Given the description of an element on the screen output the (x, y) to click on. 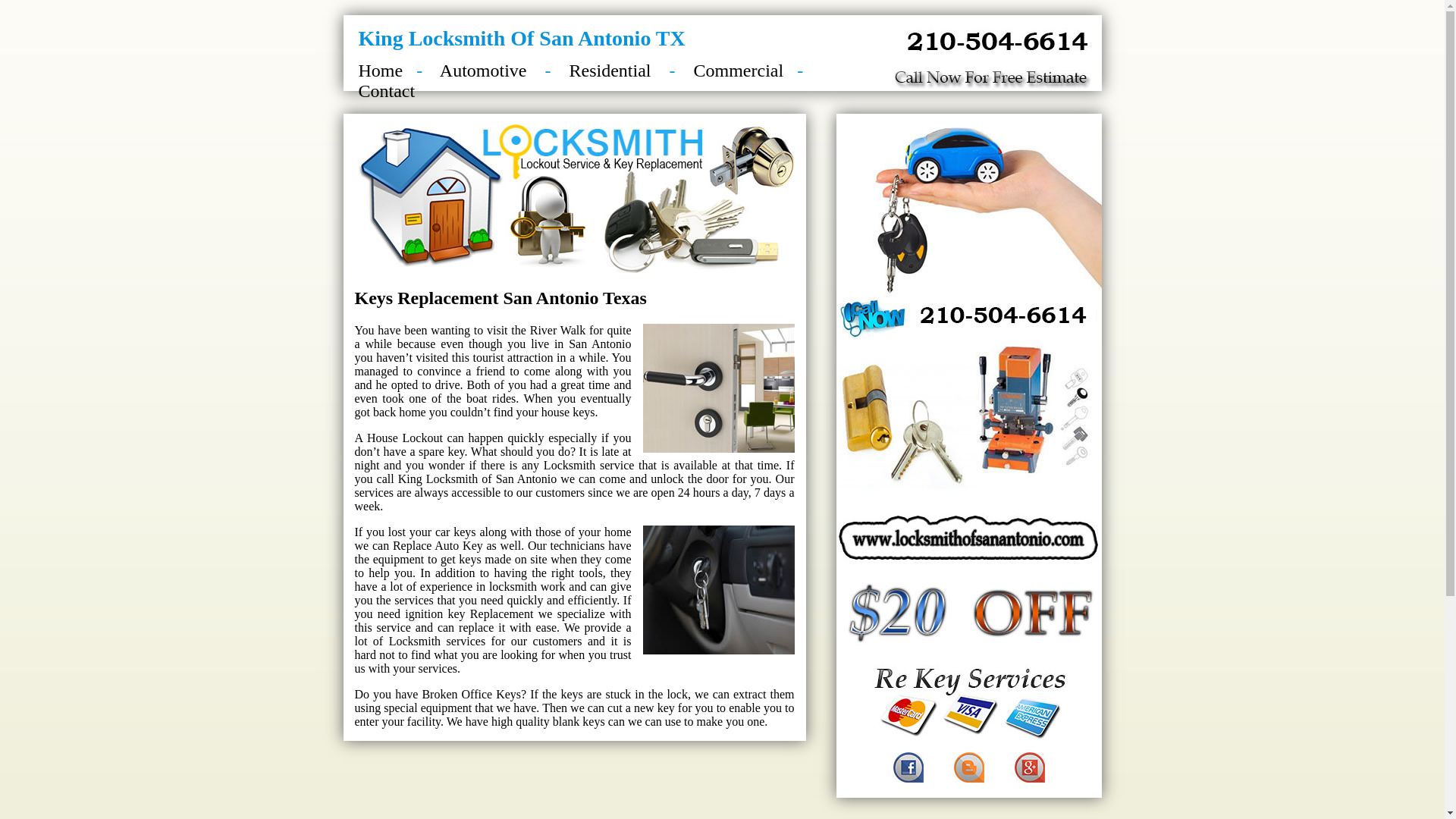
  Automotive Element type: text (478, 70)
Replace Auto Key Element type: text (437, 545)
Contact Element type: text (385, 90)
   Residential  Element type: text (607, 70)
house keys Element type: text (568, 411)
keys made Element type: text (484, 558)
Locksmith services Element type: text (437, 640)
locksmith Element type: text (512, 586)
lost your car keys Element type: text (432, 531)
unlock the door Element type: text (689, 478)
Home Element type: text (379, 70)
spare key Element type: text (441, 451)
Broken Office Keys Element type: text (470, 693)
Locksmith Element type: text (451, 478)
Commercial   Element type: text (745, 70)
House Lockout Element type: text (404, 437)
ignition key Replacement Element type: text (468, 613)
lock Element type: text (676, 693)
Locksmith service Element type: text (588, 464)
Keys Replacement San Antonio Texas Element type: text (500, 297)
new key Element type: text (653, 707)
